Given the description of an element on the screen output the (x, y) to click on. 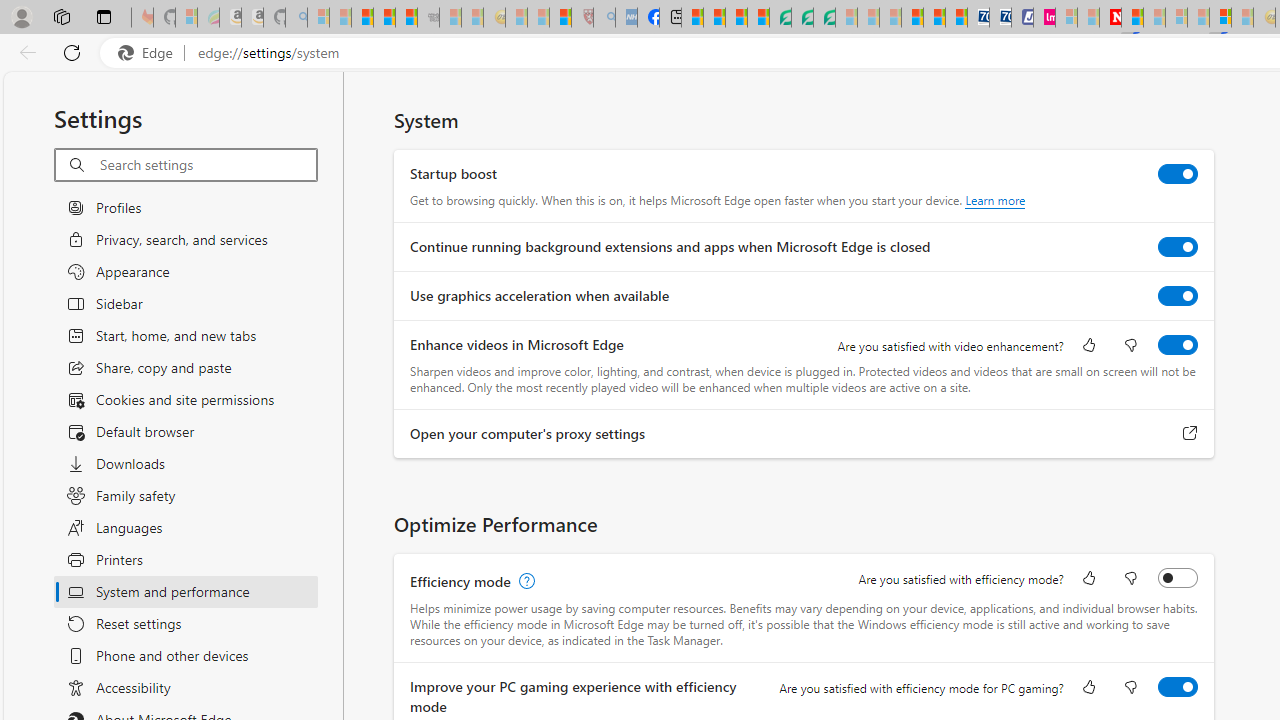
Microsoft Word - consumer-privacy address update 2.2021 (824, 17)
Open your computer's proxy settings (1190, 434)
Local - MSN (560, 17)
